Given the description of an element on the screen output the (x, y) to click on. 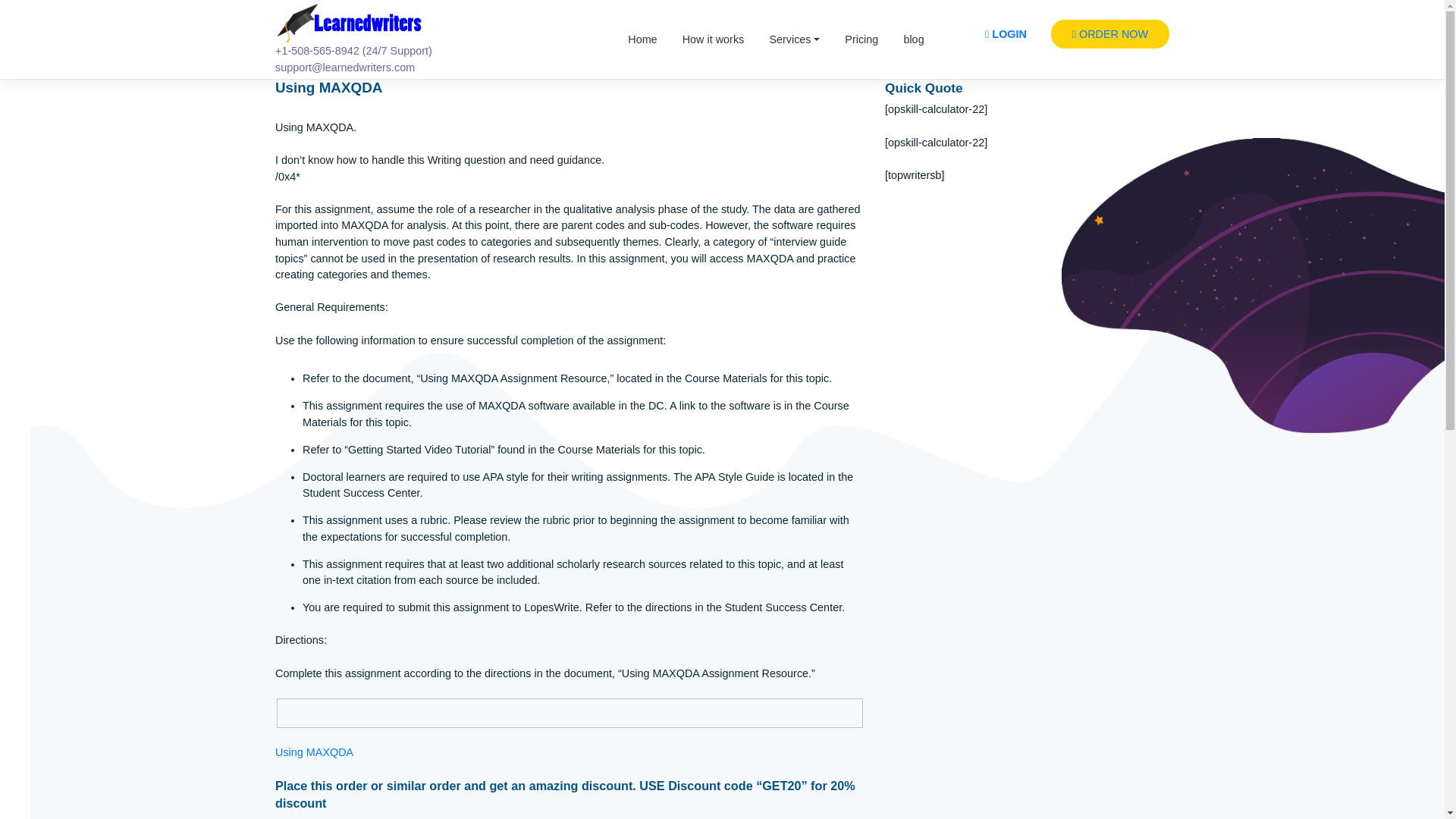
How it works (792, 43)
LOGIN (1117, 37)
Services (882, 43)
ORDER NOW (1233, 37)
LOGIN (1117, 37)
How it works (792, 43)
Pricing (957, 43)
Services (882, 43)
Pricing (957, 43)
ORDER NOW (1233, 37)
